Given the description of an element on the screen output the (x, y) to click on. 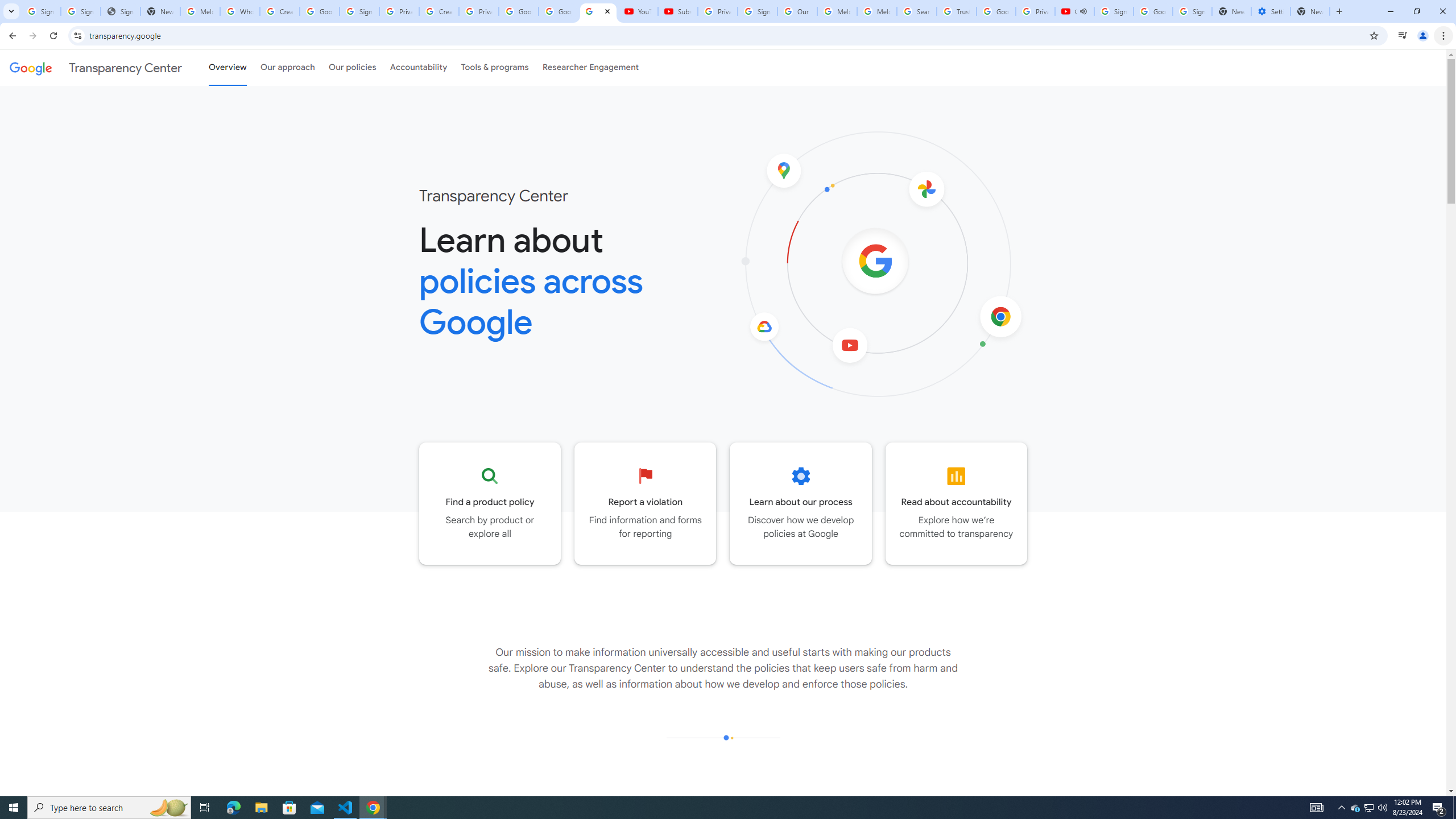
Go to the Product policy page (490, 503)
Our policies (351, 67)
Researcher Engagement (590, 67)
Accountability (418, 67)
Create your Google Account (279, 11)
Settings - Addresses and more (1270, 11)
YouTube (637, 11)
Go to the Accountability page (956, 503)
